Given the description of an element on the screen output the (x, y) to click on. 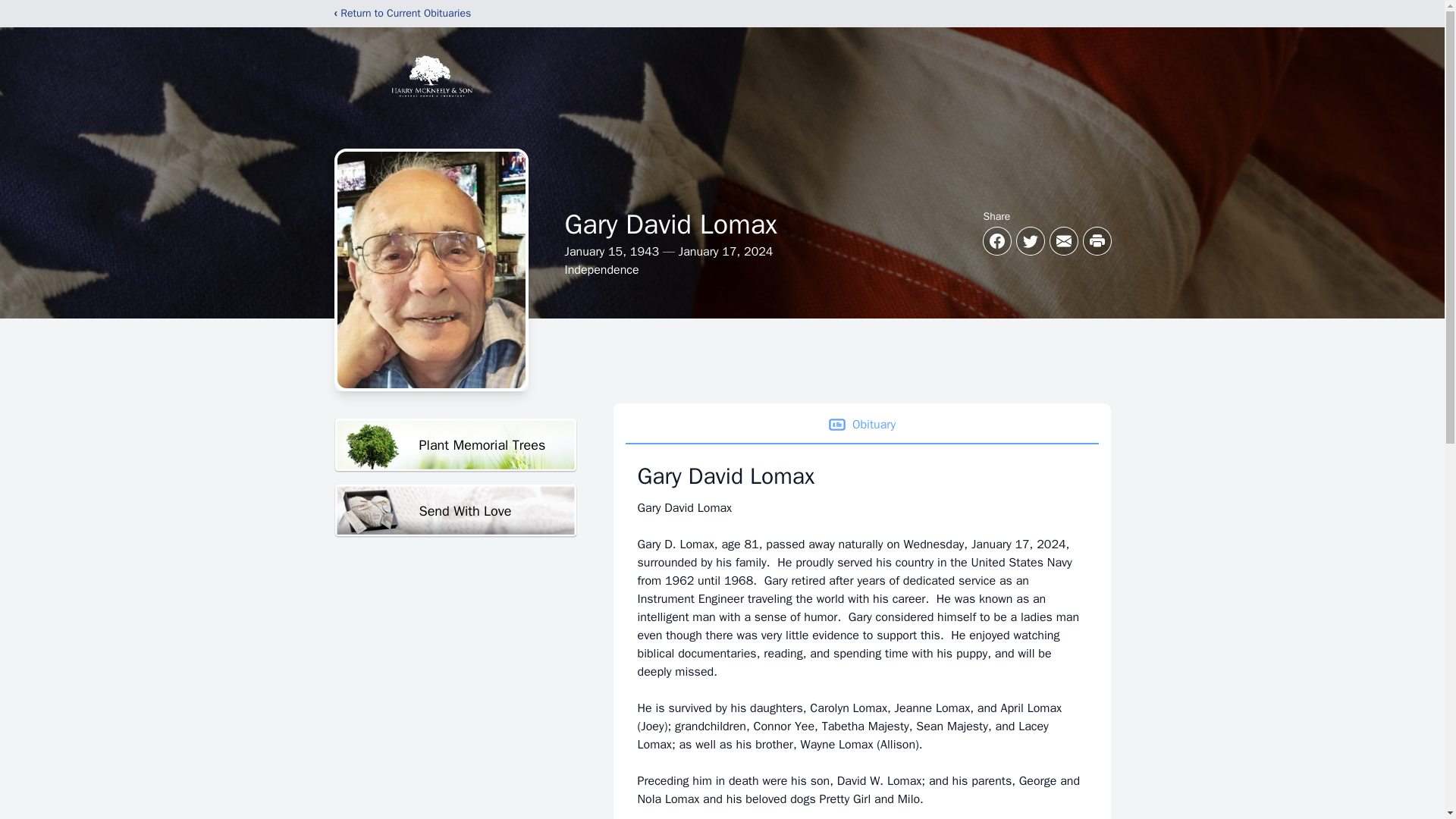
Send With Love (454, 511)
Plant Memorial Trees (454, 445)
Obituary (860, 425)
